Given the description of an element on the screen output the (x, y) to click on. 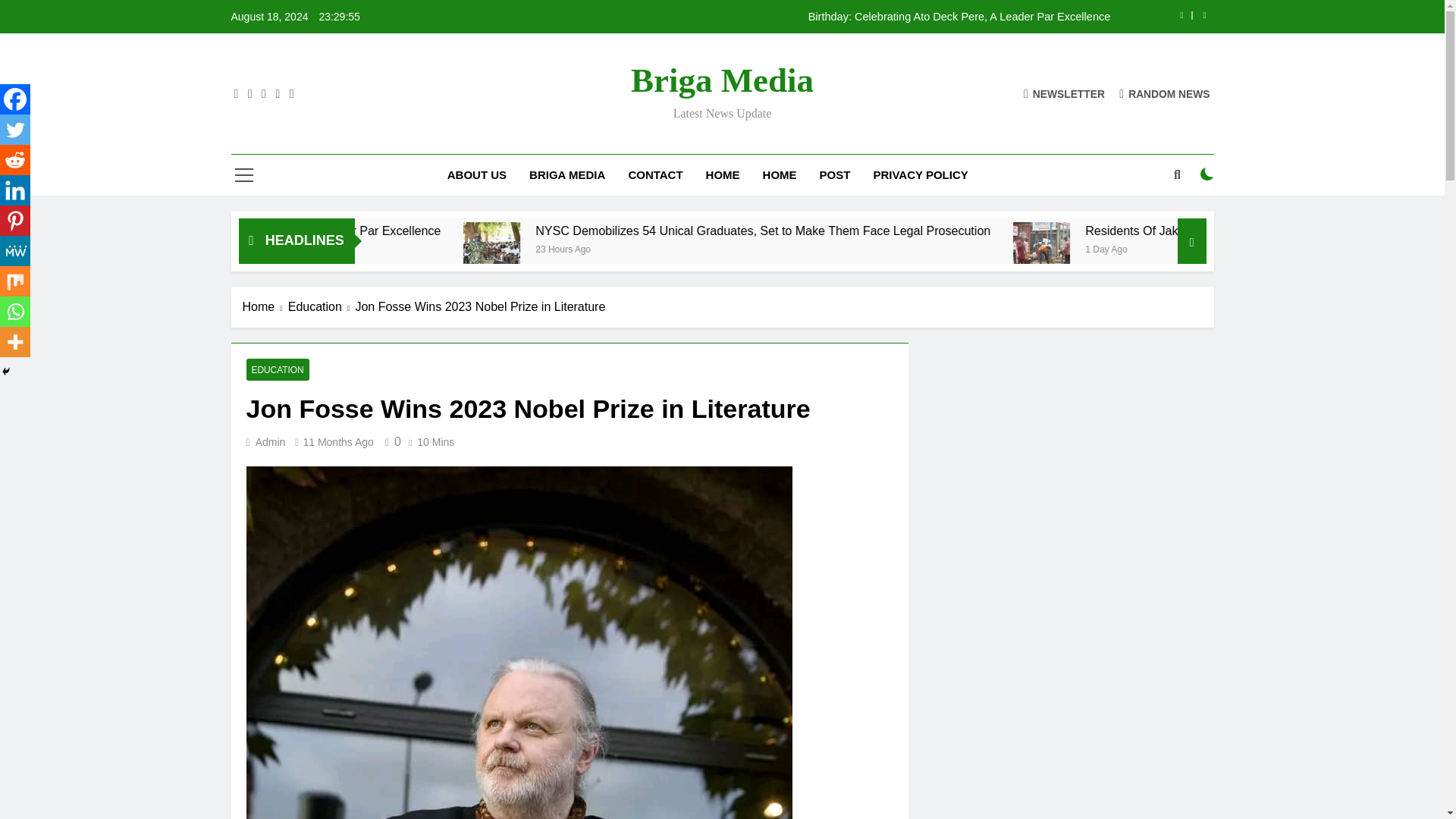
Birthday: Celebrating Ato Deck Pere, A Leader Par Excellence (536, 230)
Briga Media (721, 80)
on (1206, 173)
HOME (779, 174)
23 Hours Ago (816, 247)
Birthday: Celebrating Ato Deck Pere, A Leader Par Excellence (509, 230)
Birthday: Celebrating Ato Deck Pere, A Leader Par Excellence (817, 16)
BRIGA MEDIA (566, 174)
ABOUT US (476, 174)
